Given the description of an element on the screen output the (x, y) to click on. 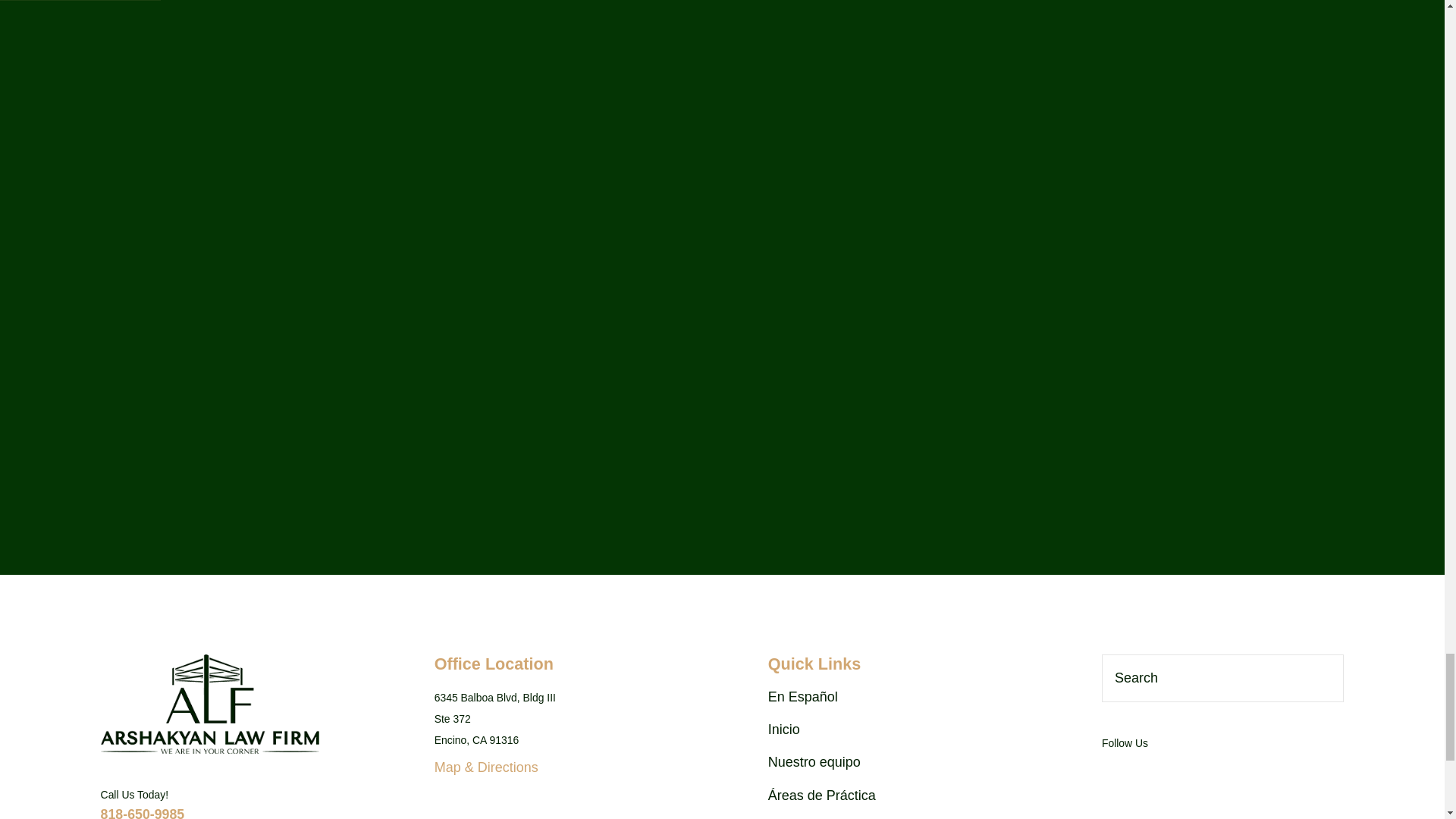
Instagram (1154, 773)
Yelp (1111, 773)
Search Our Site (1323, 678)
Home (209, 703)
Google Business Profile (1198, 773)
Facebook (1242, 773)
